Given the description of an element on the screen output the (x, y) to click on. 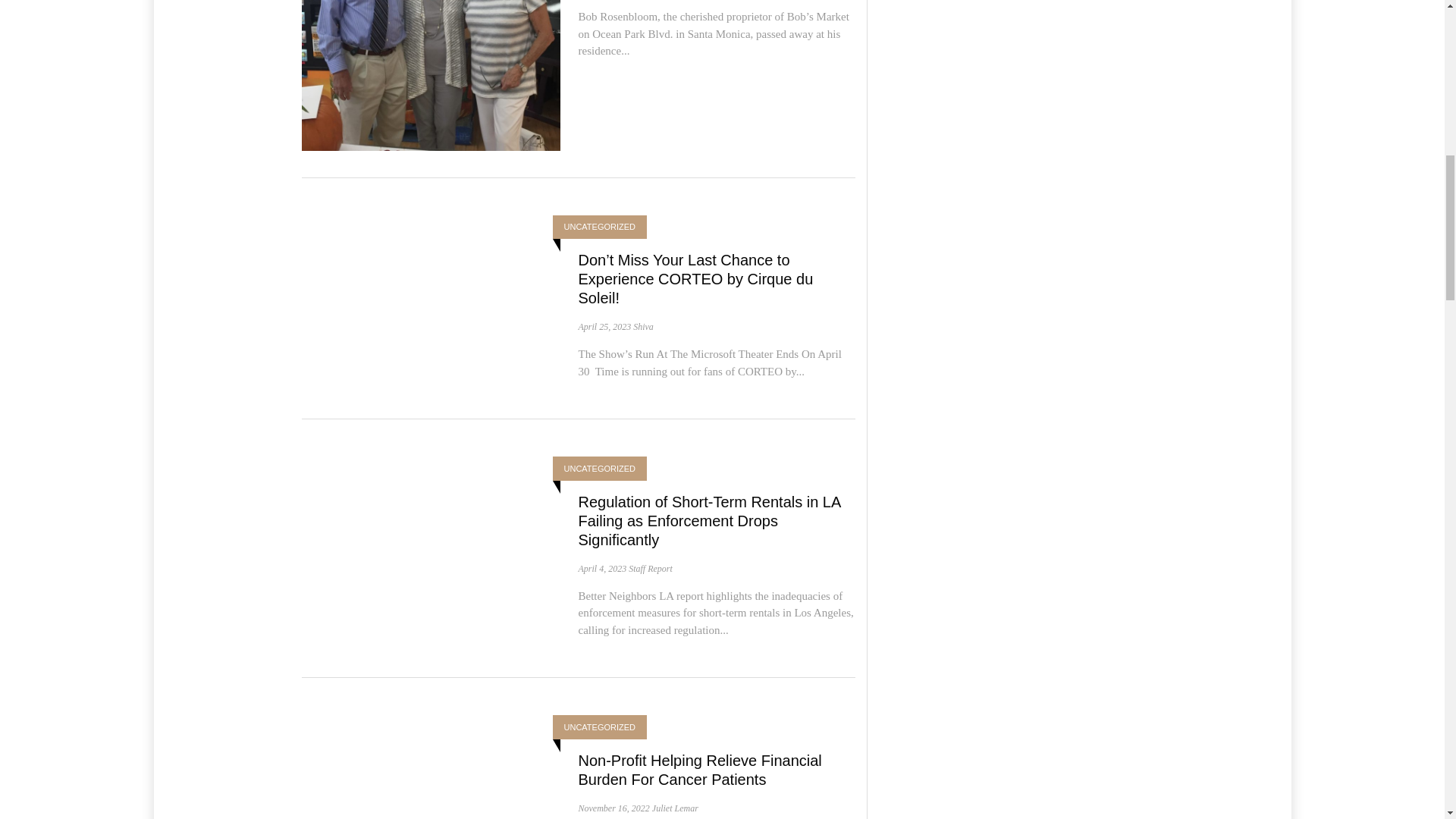
Posts by Staff Report (650, 568)
Posts by Juliet Lemar (675, 808)
Posts by Shiva (643, 326)
